Given the description of an element on the screen output the (x, y) to click on. 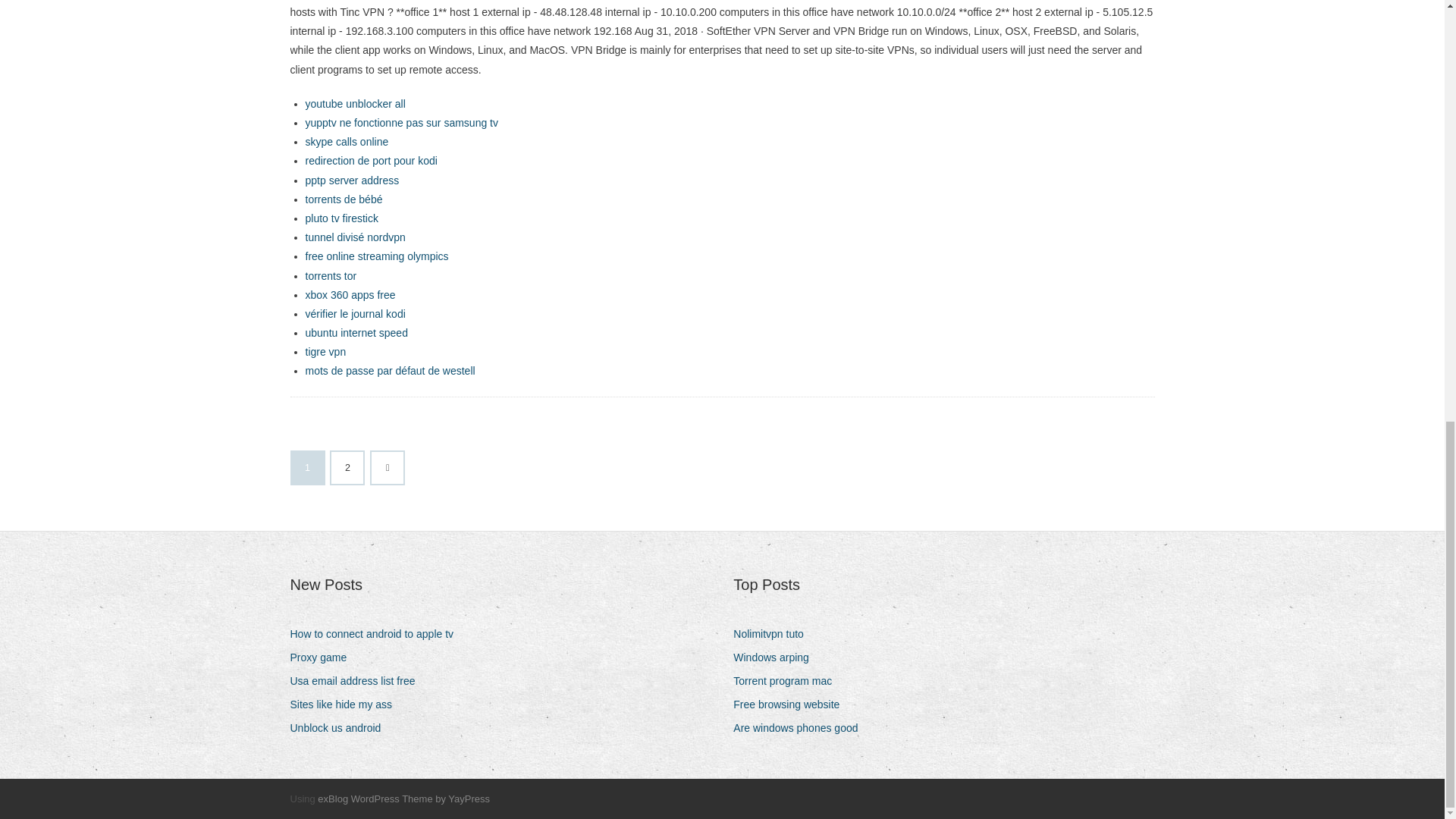
tigre vpn (325, 351)
redirection de port pour kodi (370, 160)
Nolimitvpn tuto (774, 634)
ubuntu internet speed (355, 332)
2 (346, 468)
xbox 360 apps free (349, 295)
Proxy game (323, 657)
Unblock us android (340, 728)
yupptv ne fonctionne pas sur samsung tv (400, 122)
Usa email address list free (357, 680)
youtube unblocker all (354, 103)
pluto tv firestick (340, 218)
exBlog WordPress Theme by YayPress (403, 798)
How to connect android to apple tv (376, 634)
skype calls online (346, 141)
